Given the description of an element on the screen output the (x, y) to click on. 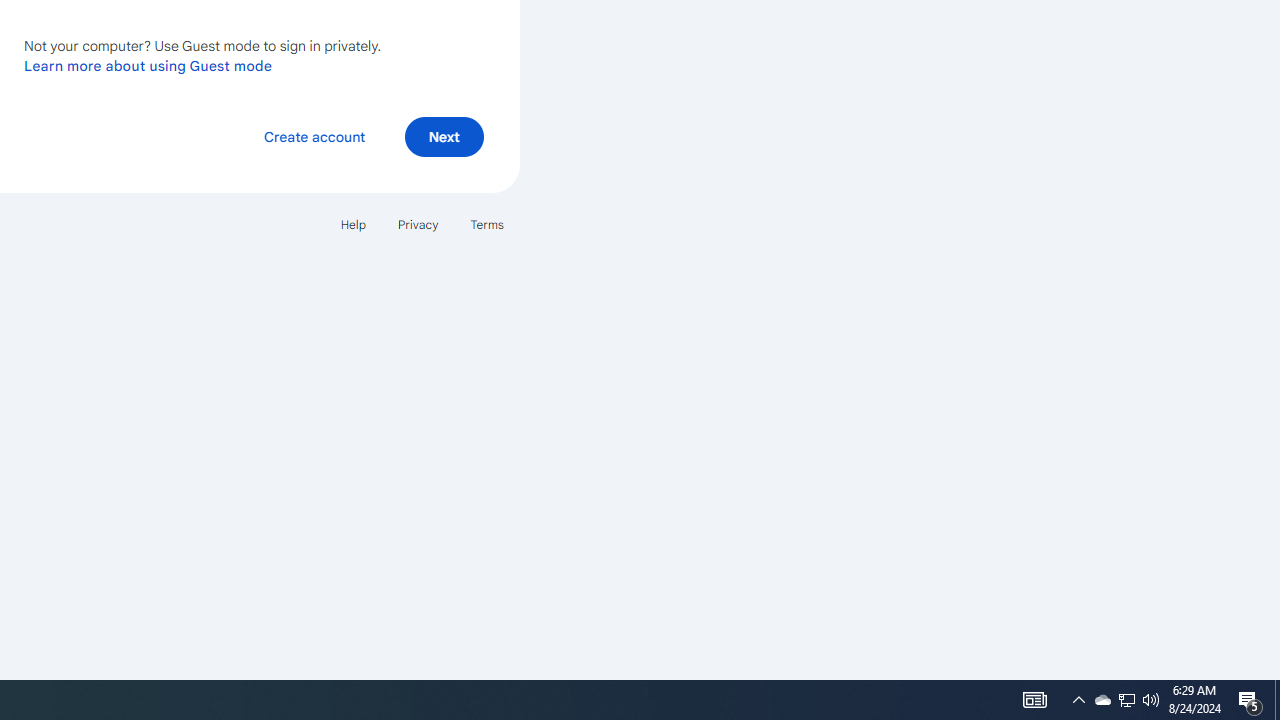
Learn more about using Guest mode (148, 65)
Privacy (417, 224)
Help (352, 224)
Create account (314, 135)
Terms (486, 224)
Next (443, 135)
